Given the description of an element on the screen output the (x, y) to click on. 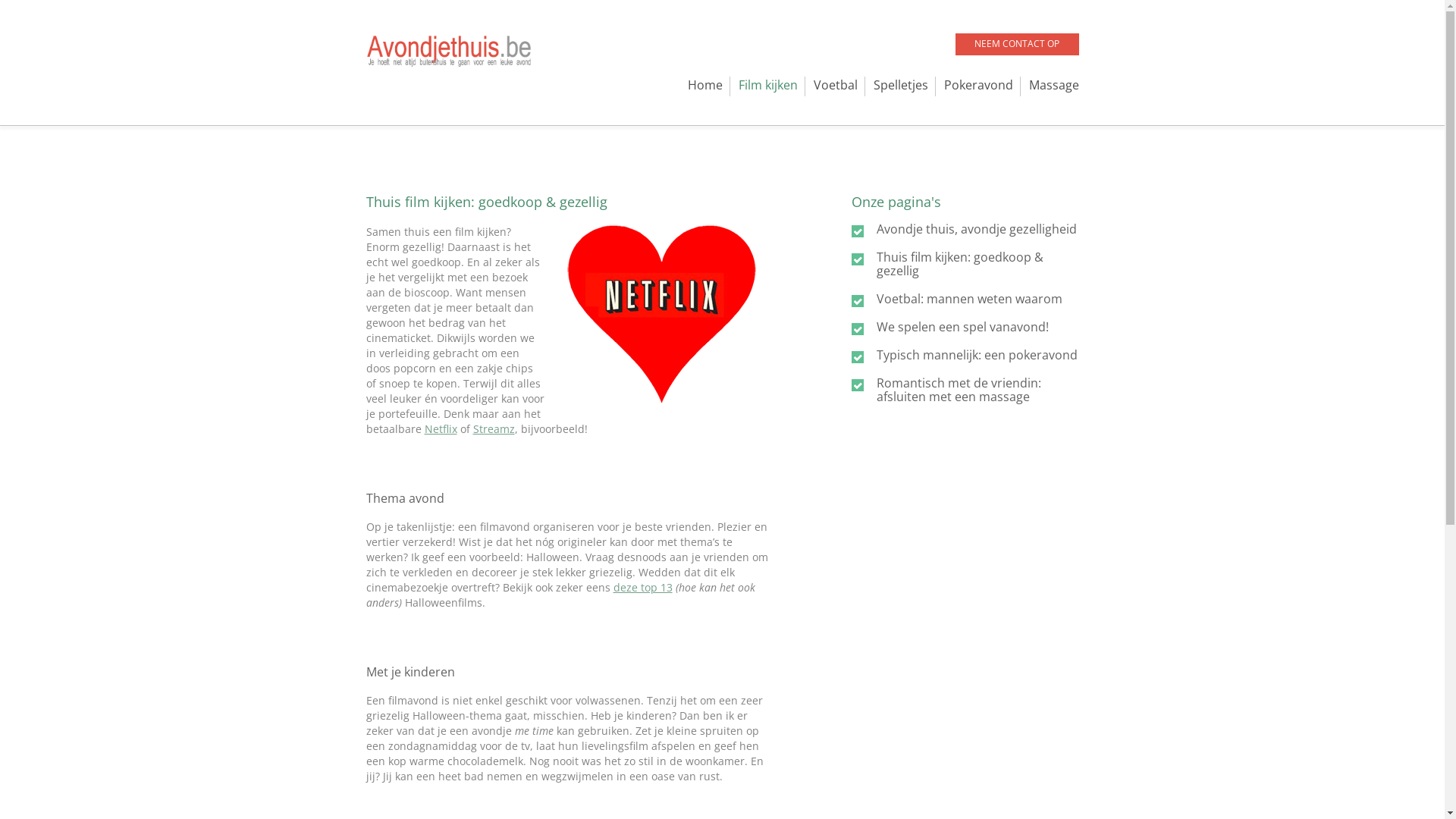
Thuis film kijken: goedkoop & gezellig Element type: text (959, 263)
Romantisch met de vriendin: afsluiten met een massage Element type: text (958, 389)
Home Element type: text (696, 84)
Pokeravond Element type: text (977, 84)
Streamz Element type: text (493, 428)
Voetbal: mannen weten waarom Element type: text (969, 298)
We spelen een spel vanavond! Element type: text (962, 326)
Massage Element type: text (1053, 84)
deze top 13 Element type: text (641, 587)
Netflix Element type: text (440, 428)
Film kijken Element type: text (767, 84)
Voetbal Element type: text (834, 84)
Avondje thuis, avondje gezelligheid Element type: text (976, 228)
Typisch mannelijk: een pokeravond Element type: text (976, 354)
Spelletjes Element type: text (900, 84)
NEEM CONTACT OP Element type: text (1017, 44)
